Given the description of an element on the screen output the (x, y) to click on. 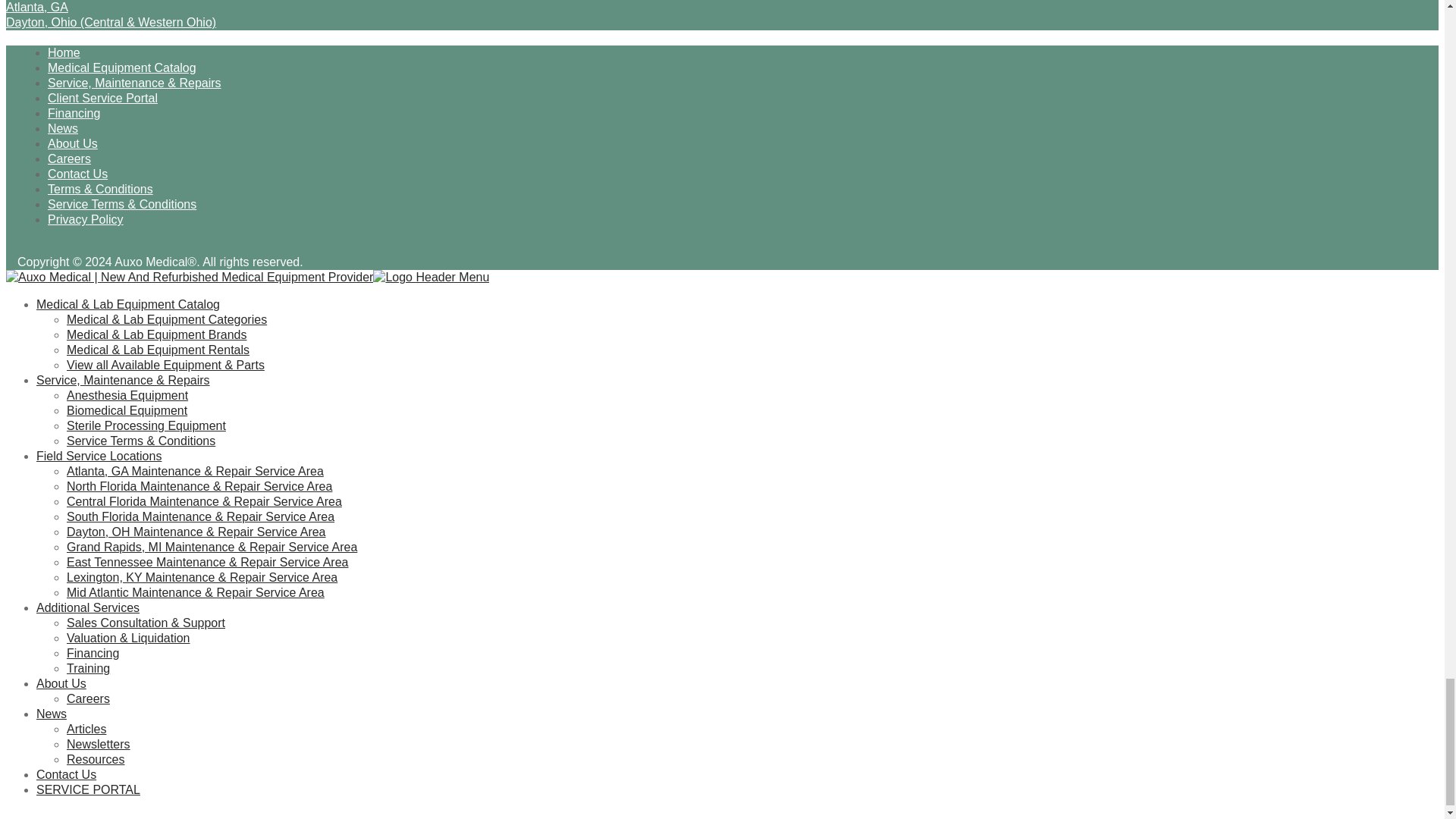
Login for Active Service Agreement Holders (87, 789)
